Given the description of an element on the screen output the (x, y) to click on. 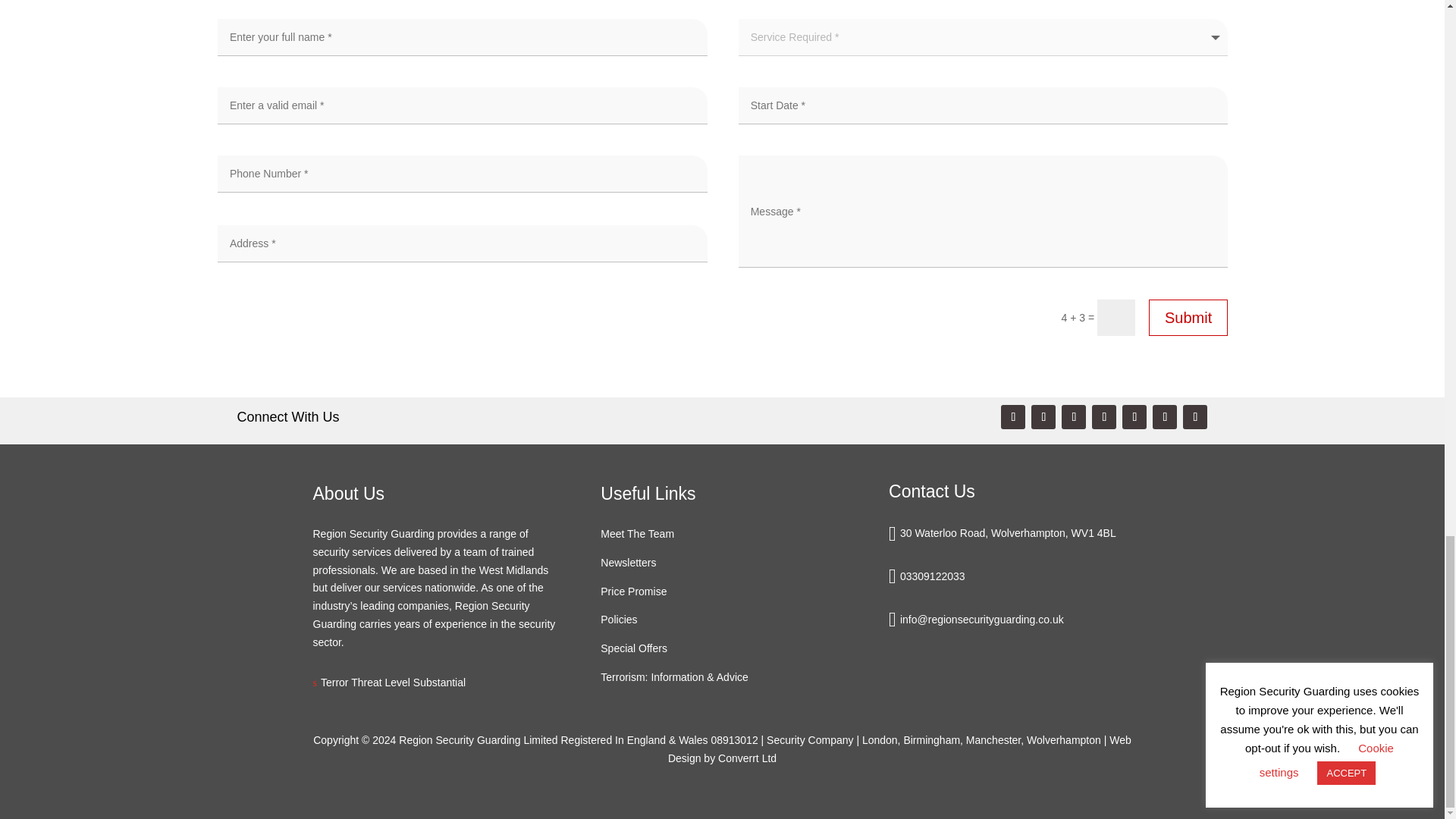
Follow on Facebook (1134, 416)
Follow on X (1042, 416)
Follow on LinkedIn (1104, 416)
Follow on Youtube (1013, 416)
Follow on Instagram (1164, 416)
Follow on TikTok (1073, 416)
